Given the description of an element on the screen output the (x, y) to click on. 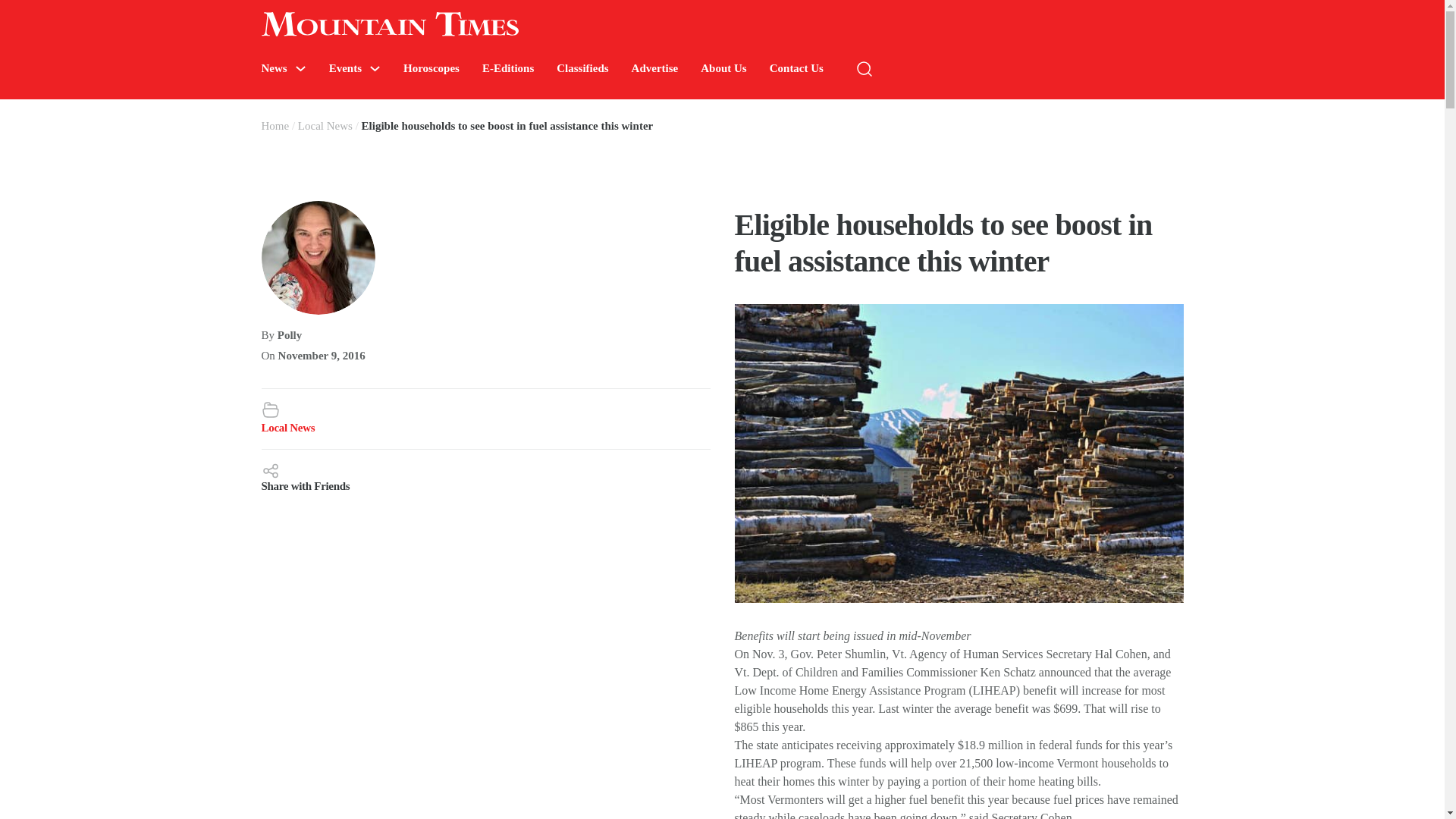
Home (274, 125)
Advertise (654, 67)
Classifieds (582, 67)
Events (345, 67)
E-Editions (507, 67)
Search (1274, 114)
Local News (325, 125)
About Us (722, 67)
Horoscopes (431, 67)
News (273, 67)
Contact Us (797, 67)
Share with Friends (485, 476)
Local News (287, 427)
Polly (290, 335)
